Given the description of an element on the screen output the (x, y) to click on. 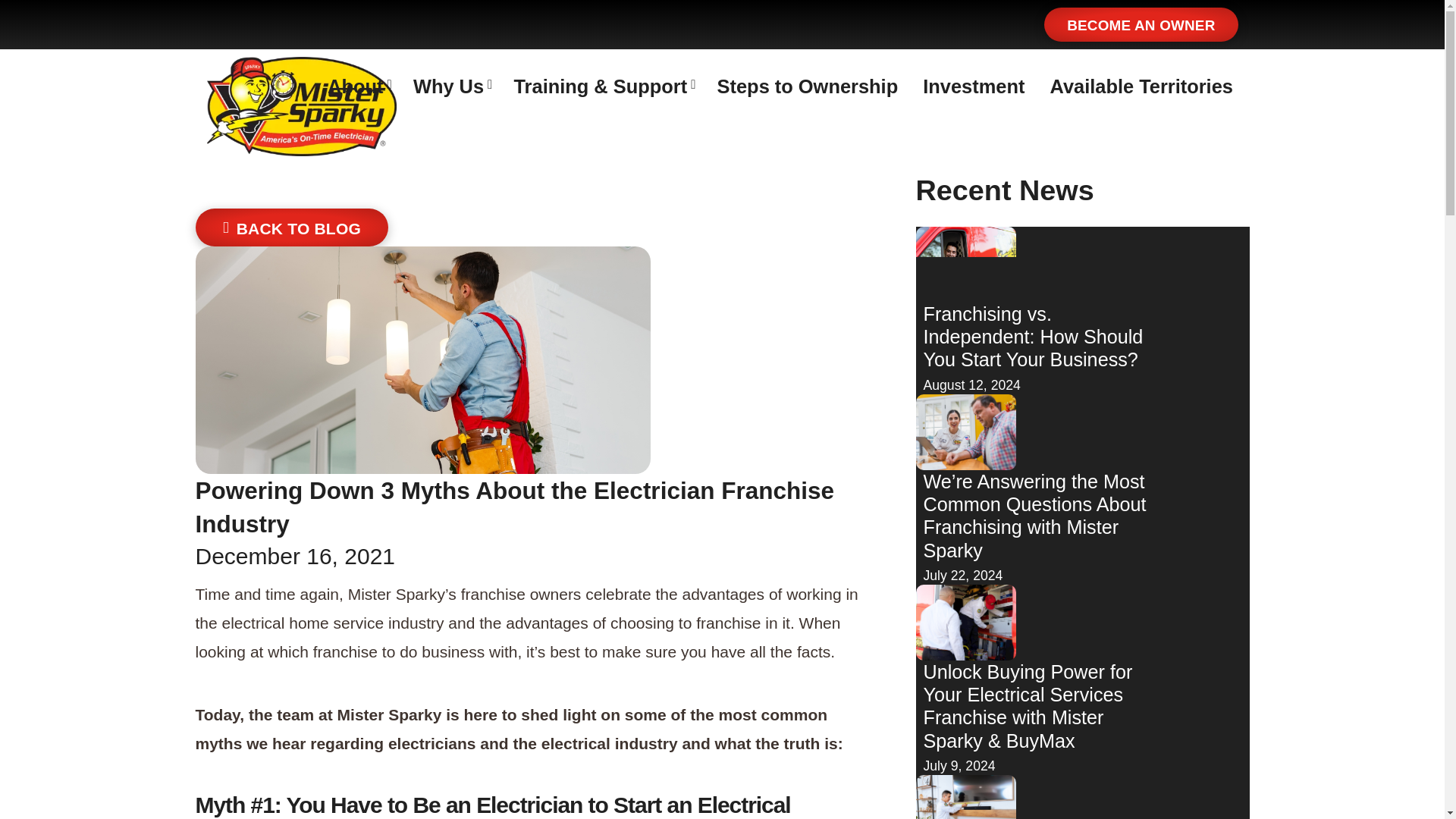
About (357, 87)
Investment (972, 87)
Why Us (451, 87)
BECOME AN OWNER (1140, 24)
Steps to Ownership (807, 87)
BACK TO BLOG (291, 227)
Available Territories (1140, 87)
